Given the description of an element on the screen output the (x, y) to click on. 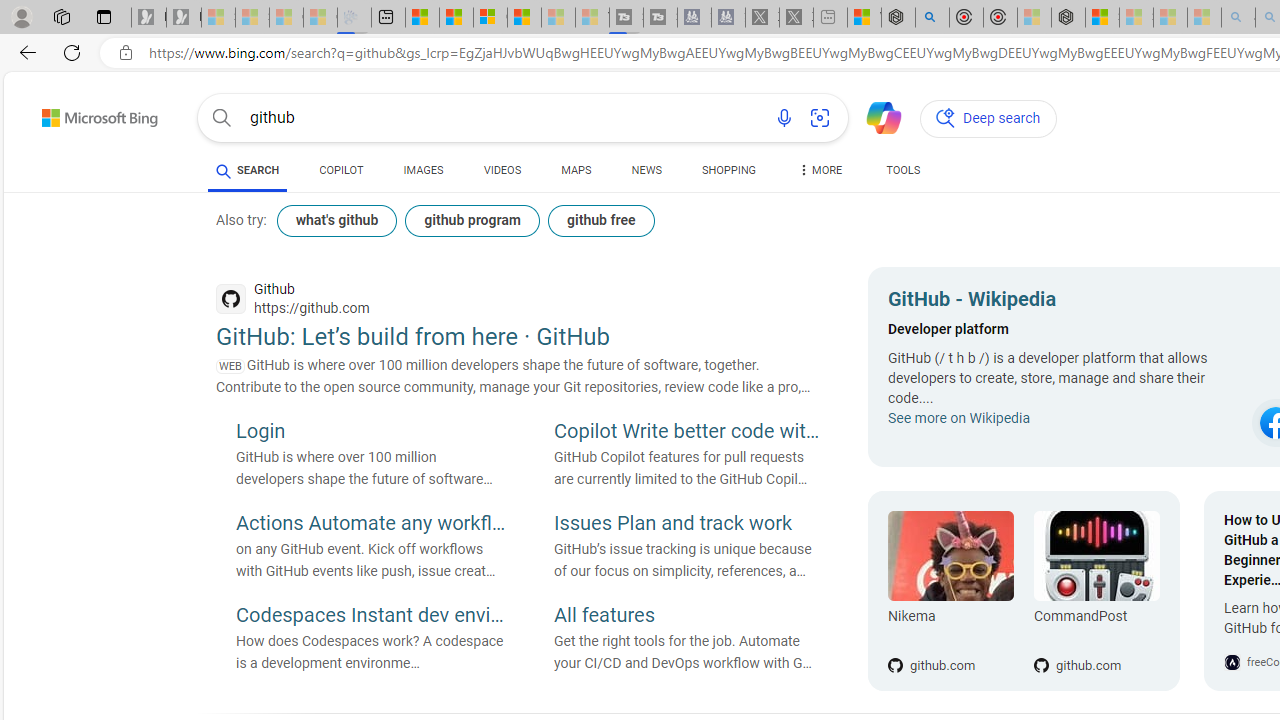
github free (600, 220)
New tab - Sleeping (830, 17)
Chat (875, 116)
Search using an image (820, 117)
MAPS (576, 173)
github.com (1096, 632)
Skip to content (64, 111)
Nikema (950, 556)
Nordace - Nordace Siena Is Not An Ordinary Backpack (1068, 17)
VIDEOS (501, 173)
MORE (819, 173)
what's github (337, 220)
Global Web Icon (1232, 662)
